Given the description of an element on the screen output the (x, y) to click on. 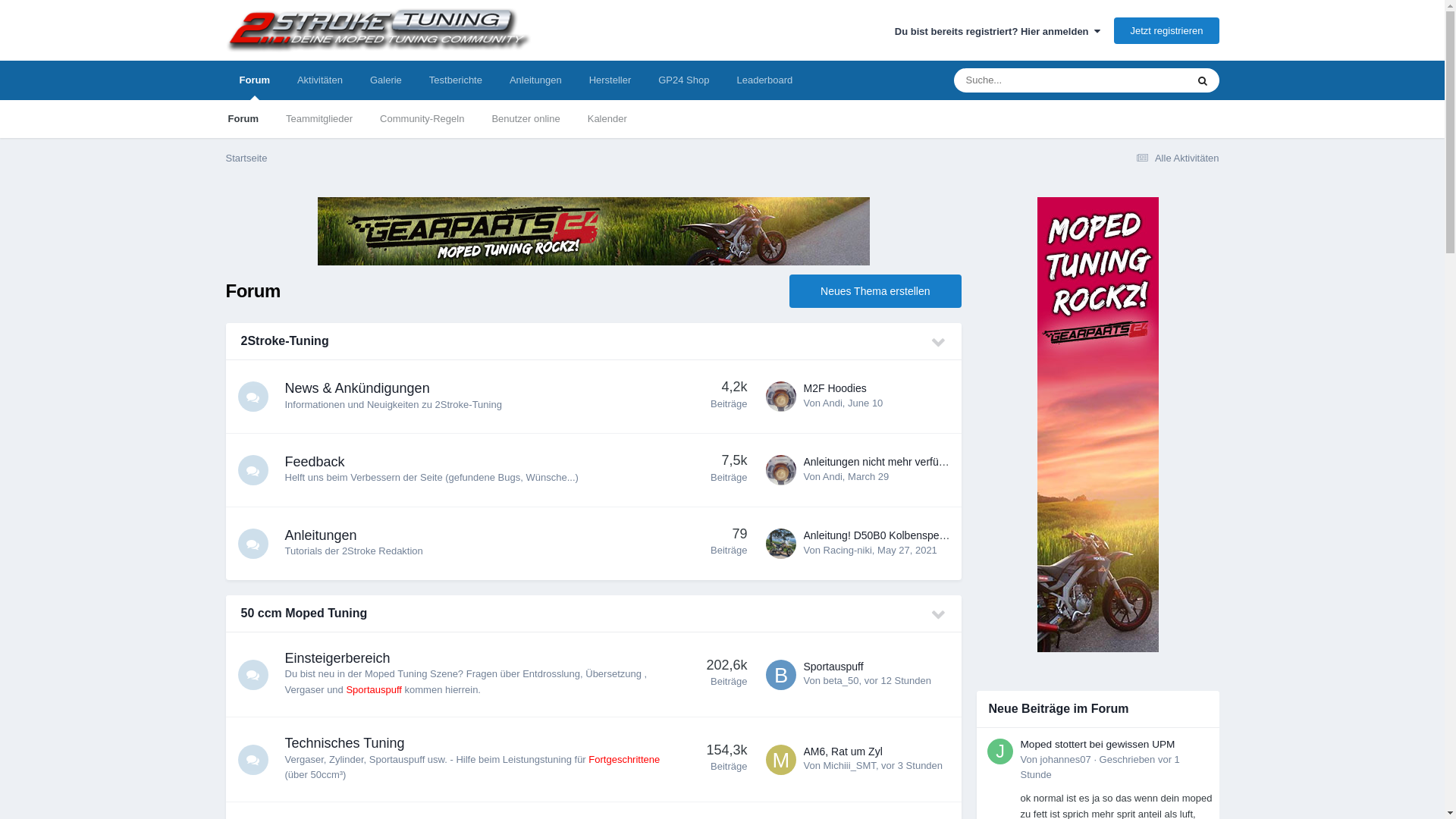
Anleitungen Element type: text (321, 534)
Michiii_SMT Element type: text (849, 765)
Sportauspuff Element type: text (833, 665)
Testberichte Element type: text (455, 80)
March 29 Element type: text (867, 476)
Geschrieben vor 1 Stunde Element type: text (1099, 766)
June 10 Element type: text (864, 402)
M2F Hoodies Element type: text (834, 388)
vor 12 Stunden Element type: text (897, 680)
Gehe zu Racing-niki's Profil Element type: hover (780, 543)
Forum Element type: text (254, 80)
Racing-niki Element type: text (847, 549)
Du bist bereits registriert? Hier anmelden   Element type: text (997, 31)
vor 3 Stunden Element type: text (911, 765)
Forum Element type: text (242, 119)
Gehe zu Michiii_SMT's Profil Element type: hover (780, 759)
Galerie Element type: text (385, 80)
Gehe zu Andi's Profil Element type: hover (780, 396)
Gehe zu beta_50's Profil Element type: hover (780, 674)
Leaderboard Element type: text (764, 80)
Kalender Element type: text (607, 119)
Technisches Tuning Element type: text (344, 742)
Diese Kategorie ein-/ausklappen Element type: hover (938, 342)
Gehe zu johannes07's Profil Element type: hover (1000, 751)
Moped stottert bei gewissen UPM Element type: text (1097, 743)
Andi Element type: text (832, 476)
Gehe zu Andi's Profil Element type: hover (780, 470)
AM6, Rat um Zyl Element type: text (842, 751)
2Stroke-Tuning Element type: text (285, 340)
Community-Regeln Element type: text (421, 119)
johannes07 Element type: text (1065, 759)
Jetzt registrieren Element type: text (1165, 29)
Einsteigerbereich Element type: text (337, 657)
Neues Thema erstellen Element type: text (874, 290)
Feedback Element type: text (315, 461)
Diese Kategorie ein-/ausklappen Element type: hover (938, 614)
beta_50 Element type: text (841, 680)
May 27, 2021 Element type: text (907, 549)
GP24 Shop Element type: text (683, 80)
Hersteller Element type: text (610, 80)
Andi Element type: text (832, 402)
Benutzer online Element type: text (525, 119)
Anleitungen Element type: text (535, 80)
Startseite Element type: text (246, 157)
50 ccm Moped Tuning Element type: text (304, 612)
Teammitglieder Element type: text (319, 119)
